Given the description of an element on the screen output the (x, y) to click on. 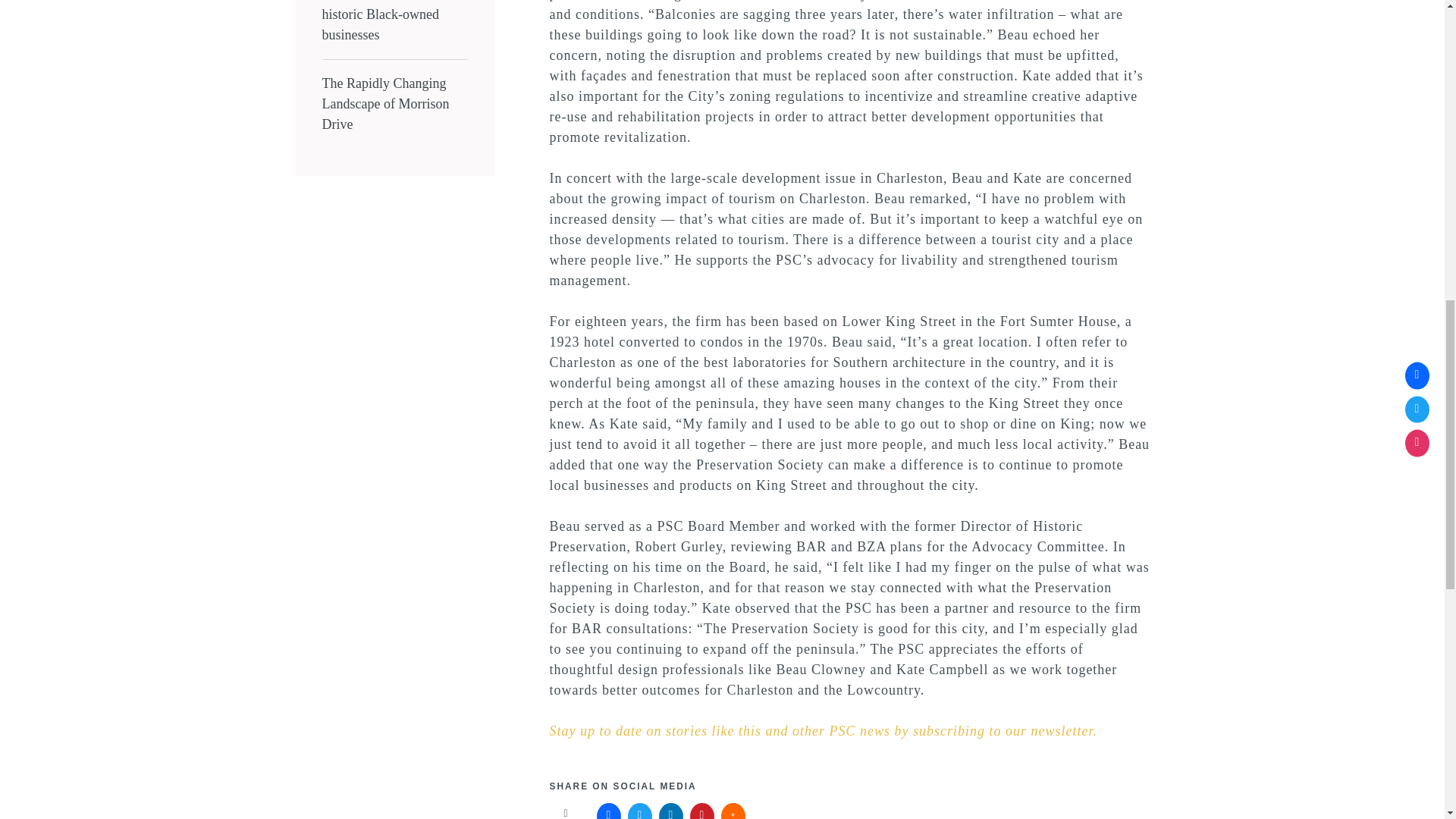
More share links (732, 811)
Tweet this ! (639, 811)
Share this on Facebook (608, 811)
Add this to LinkedIn (670, 811)
Submit this to Pinterest (702, 811)
